Given the description of an element on the screen output the (x, y) to click on. 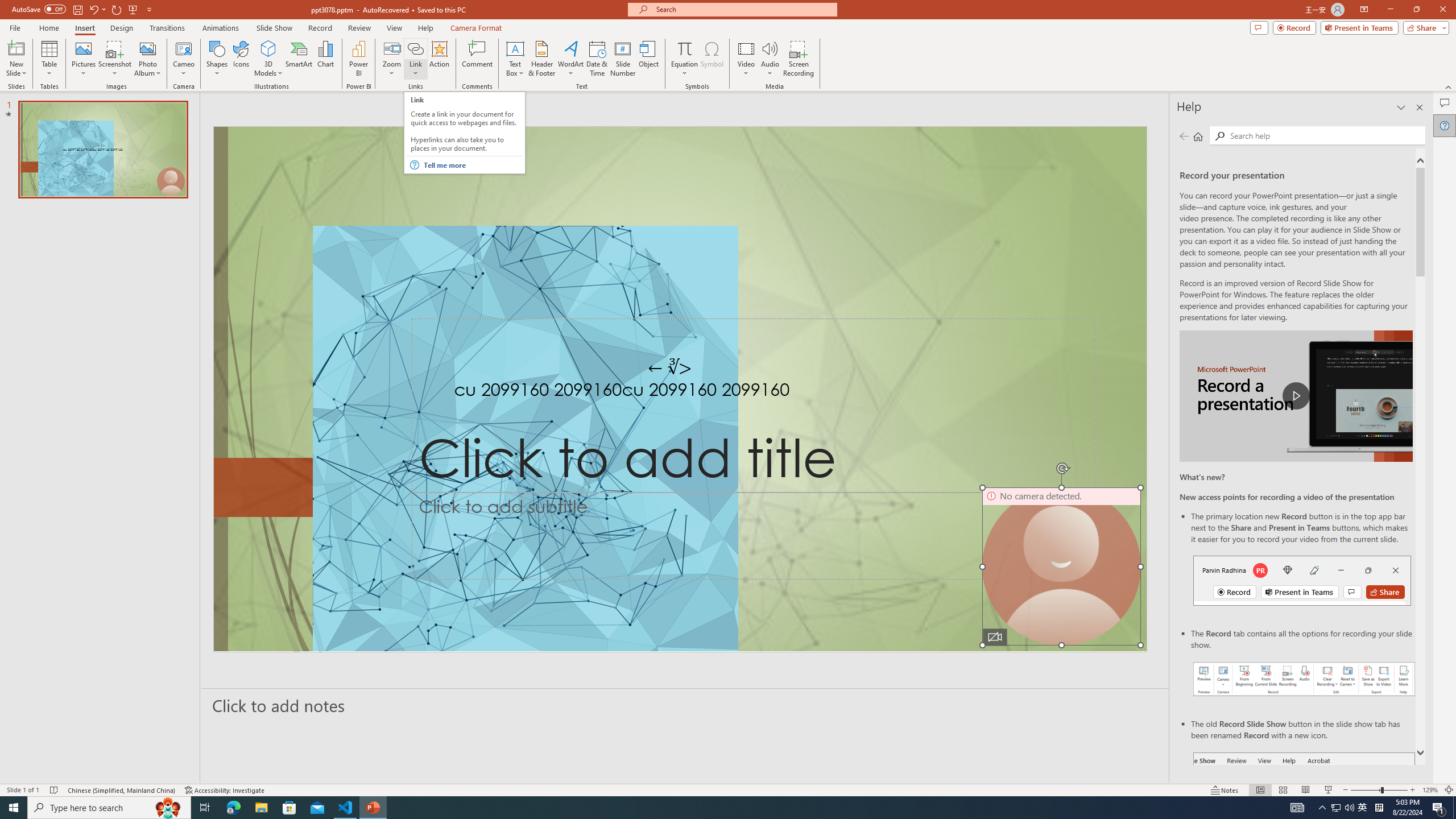
Audio (769, 58)
Title TextBox (753, 405)
Search (1219, 136)
Video (745, 58)
Accessibility Checker Accessibility: Investigate (224, 790)
Photo Album... (147, 58)
Draw Horizontal Text Box (515, 48)
Subtitle TextBox (753, 535)
New Slide (16, 58)
Animations (220, 28)
Close (1442, 9)
Record (1294, 27)
Design (122, 28)
File Tab (15, 27)
